Given the description of an element on the screen output the (x, y) to click on. 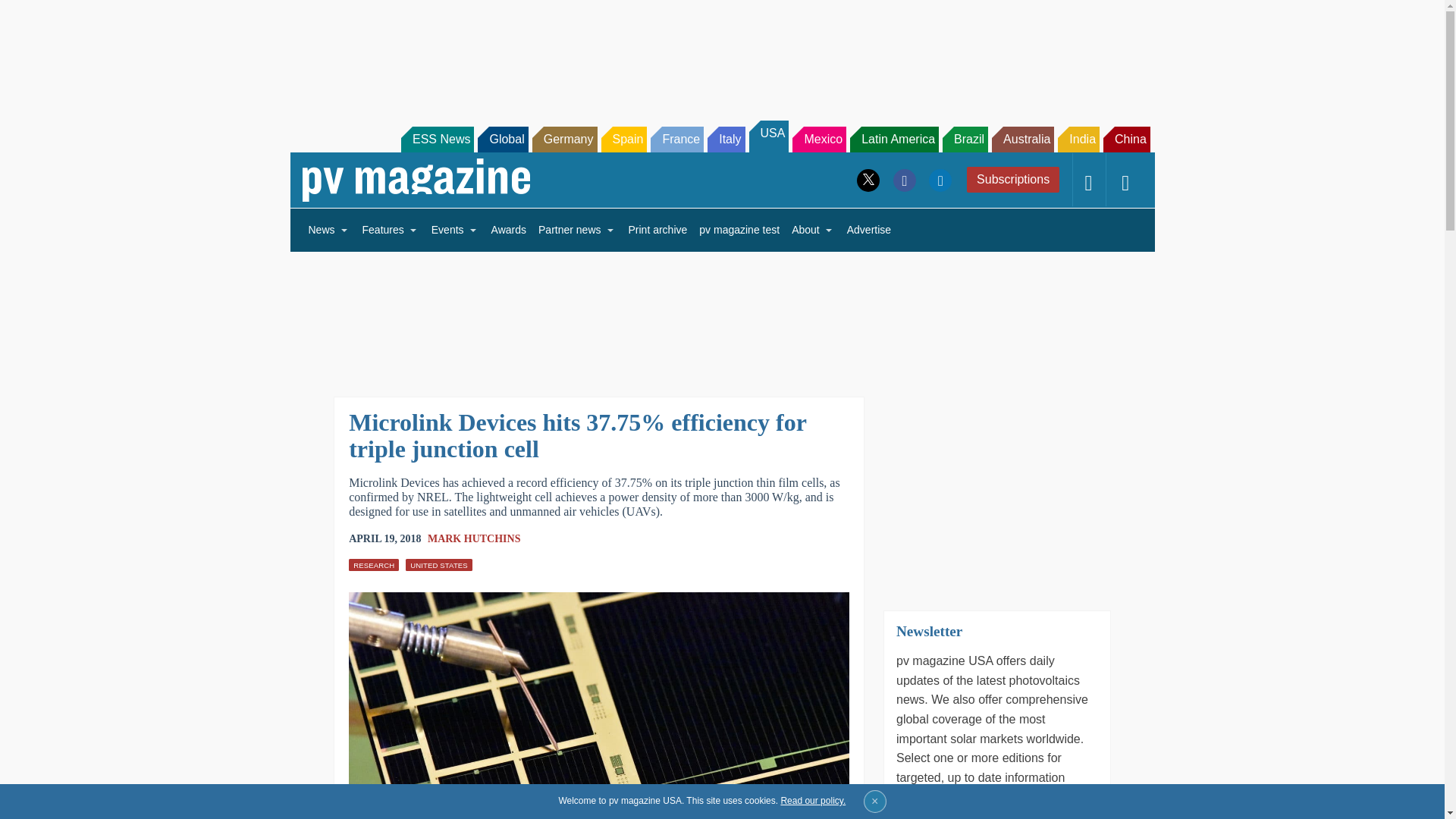
Germany (564, 139)
3rd party ad content (721, 51)
Latin America (894, 139)
Search (32, 15)
France (676, 139)
Posts by Mark Hutchins (474, 538)
Italy (725, 139)
Australia (1022, 139)
Brazil (965, 139)
China (1126, 139)
